Given the description of an element on the screen output the (x, y) to click on. 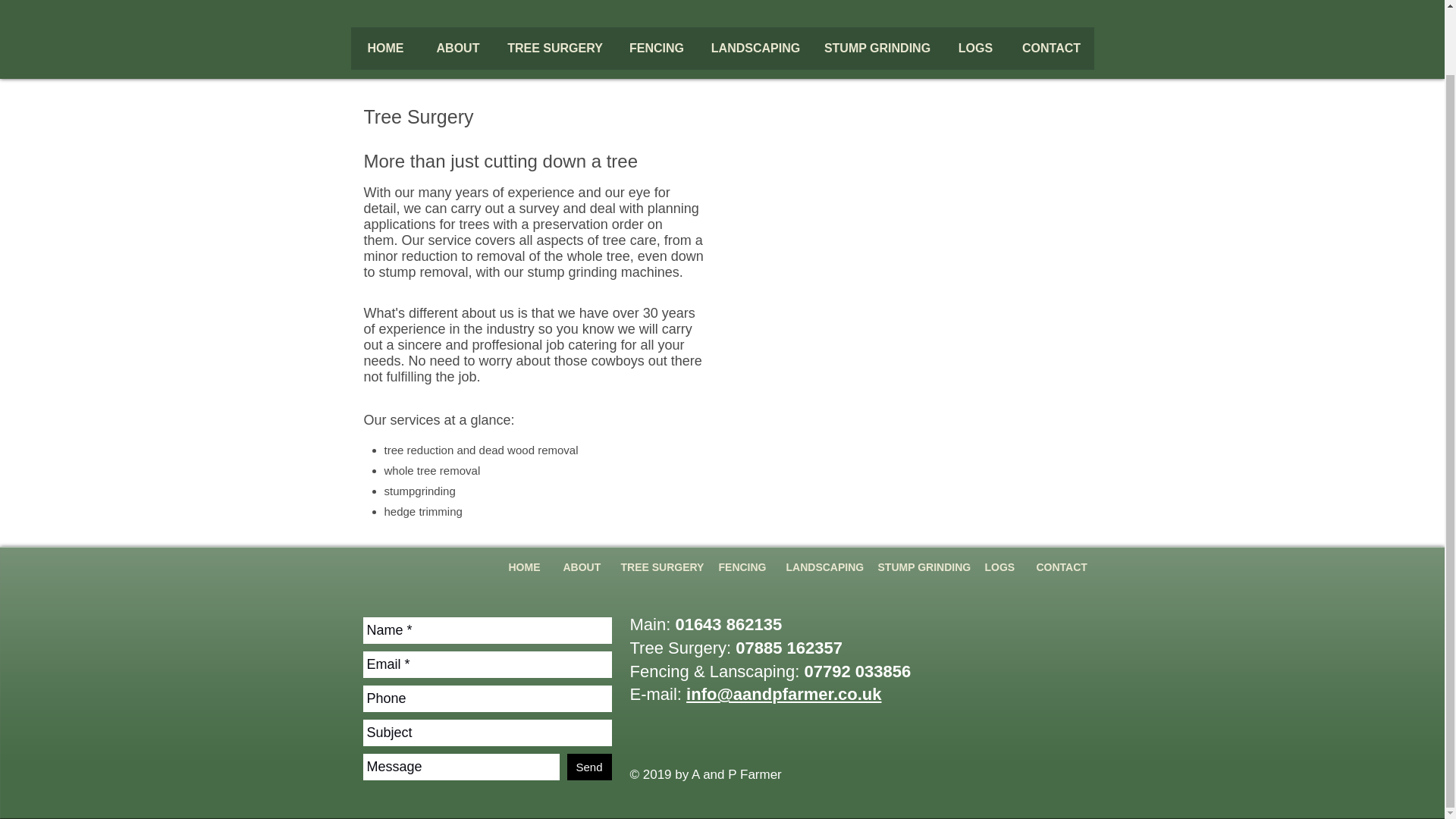
LOGS (975, 52)
HOME (524, 572)
ABOUT (580, 572)
CONTACT (1051, 52)
LOGS (999, 572)
FENCING (740, 572)
HOME (385, 52)
TREE SURGERY (658, 572)
LANDSCAPING (820, 572)
FENCING (656, 52)
STUMP GRINDING (877, 52)
ABOUT (457, 52)
LANDSCAPING (755, 52)
Send (589, 766)
STUMP GRINDING (919, 572)
